Given the description of an element on the screen output the (x, y) to click on. 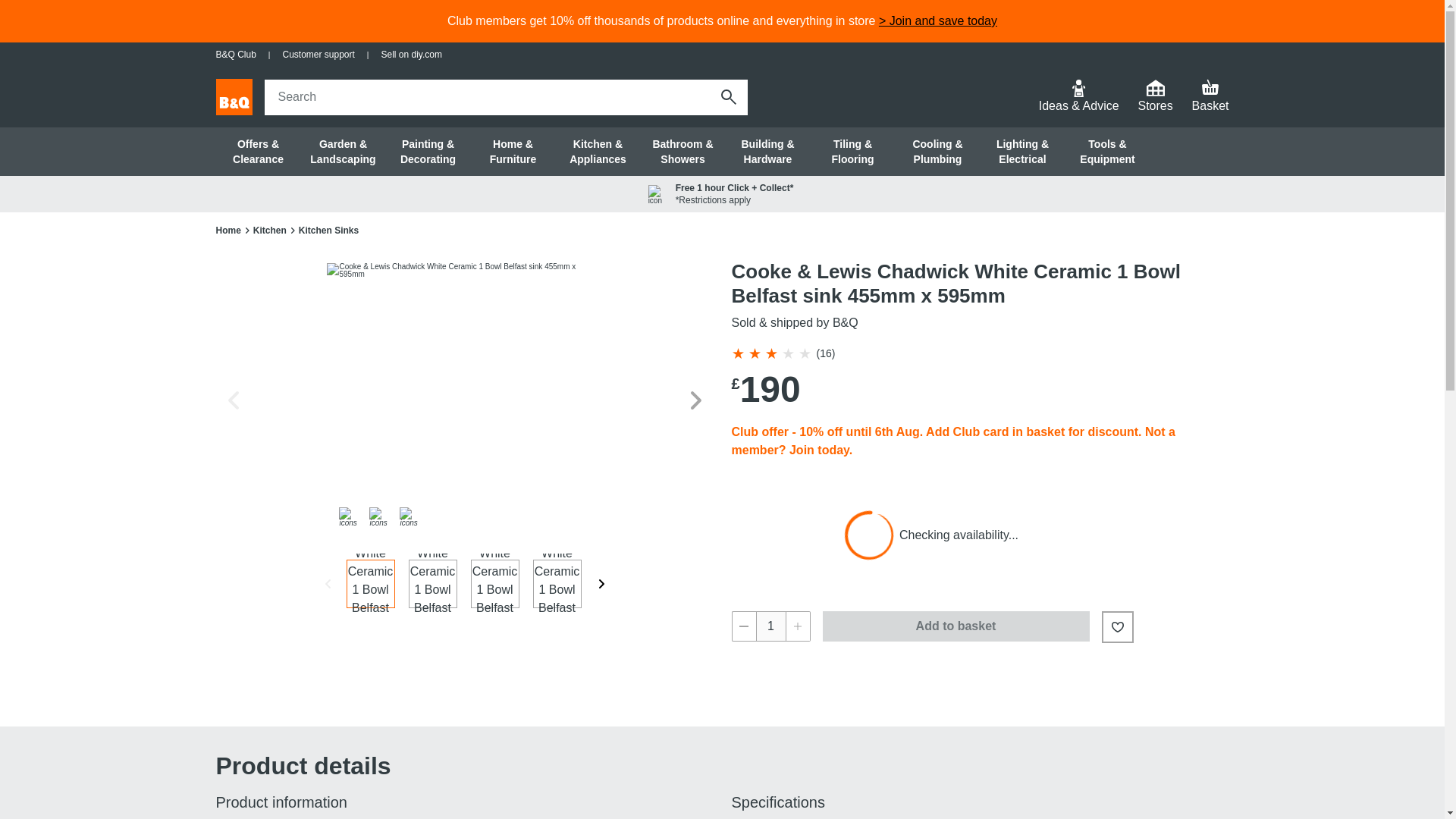
Empty star (803, 353)
Customer support (317, 54)
Sell on diy.com (410, 54)
Full star (736, 353)
Empty star (786, 353)
Close (719, 96)
Basket (1210, 96)
Full star (770, 353)
Stores (1155, 96)
Full star (754, 353)
1 (770, 625)
